Given the description of an element on the screen output the (x, y) to click on. 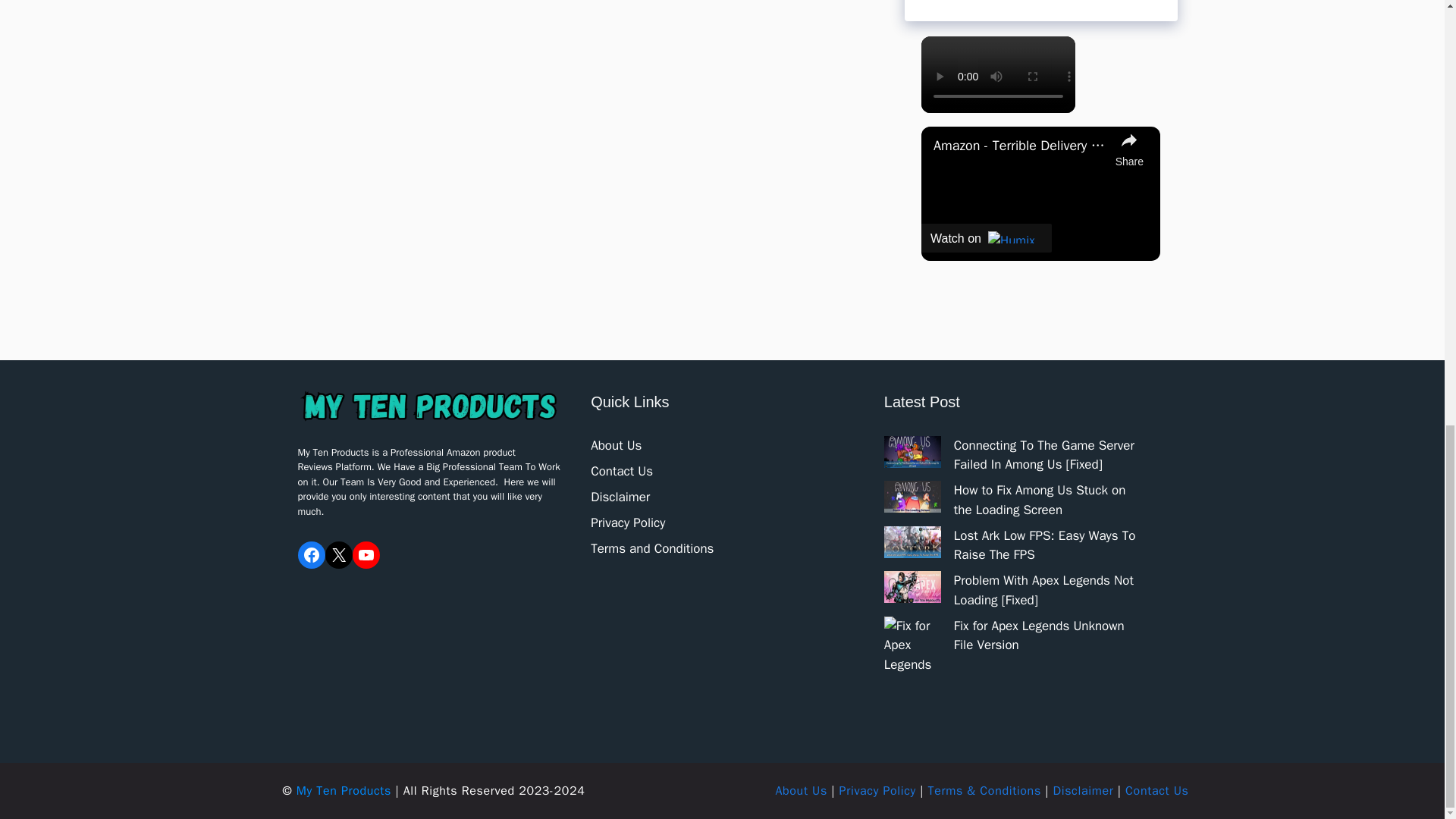
Terms and Conditions (652, 548)
Disclaimer (620, 496)
YouTube (365, 554)
Privacy Policy (628, 522)
X (338, 554)
Watch on (986, 237)
Facebook (310, 554)
Contact Us (621, 471)
Lost Ark Low FPS: Easy Ways To Raise The FPS (1044, 545)
How to Fix Among Us Stuck on the Loading Screen (1039, 499)
About Us (616, 445)
